Given the description of an element on the screen output the (x, y) to click on. 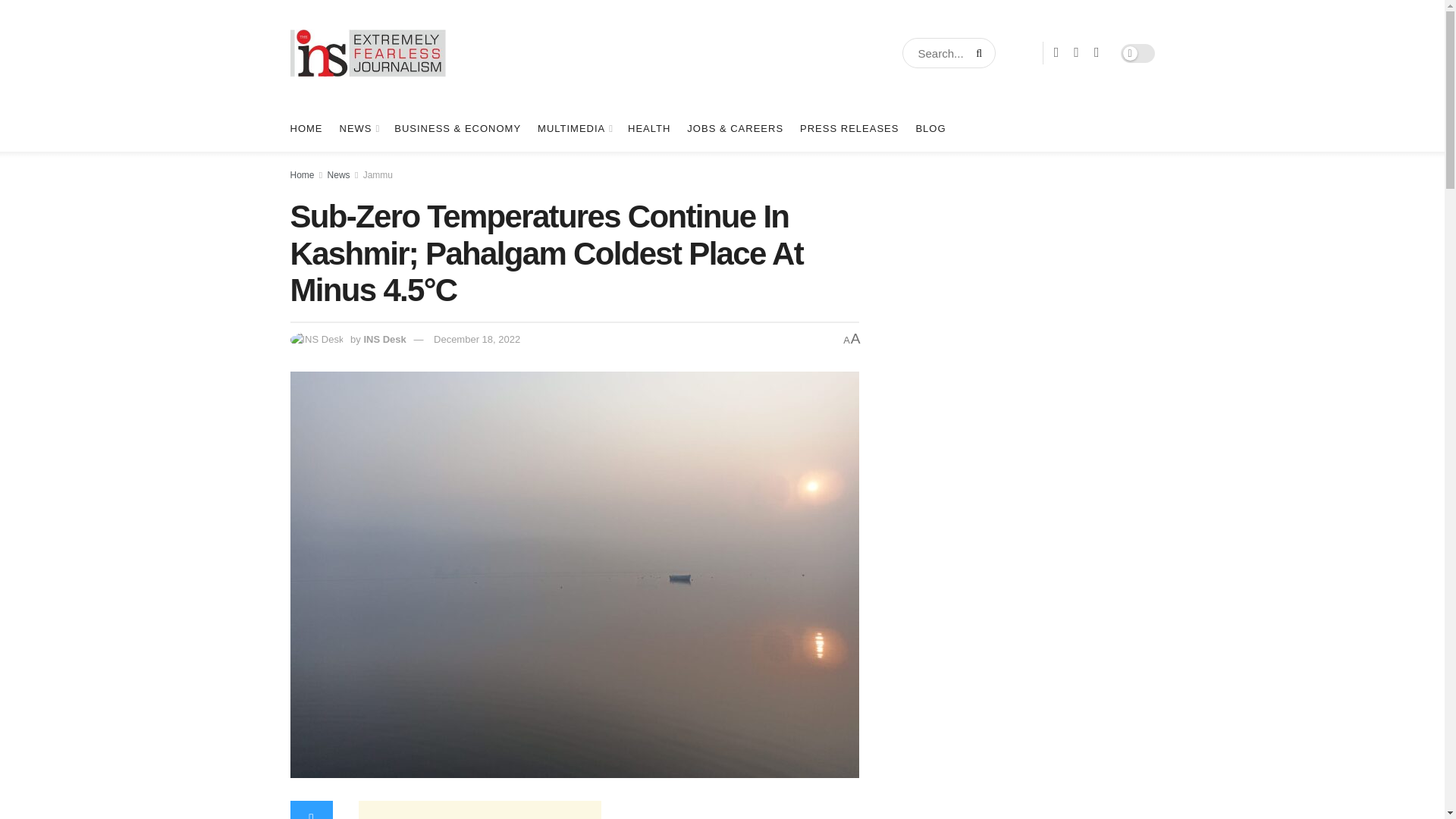
MULTIMEDIA (574, 128)
HEALTH (648, 128)
PRESS RELEASES (848, 128)
Advertisement (478, 809)
Advertisement (1007, 753)
